Given the description of an element on the screen output the (x, y) to click on. 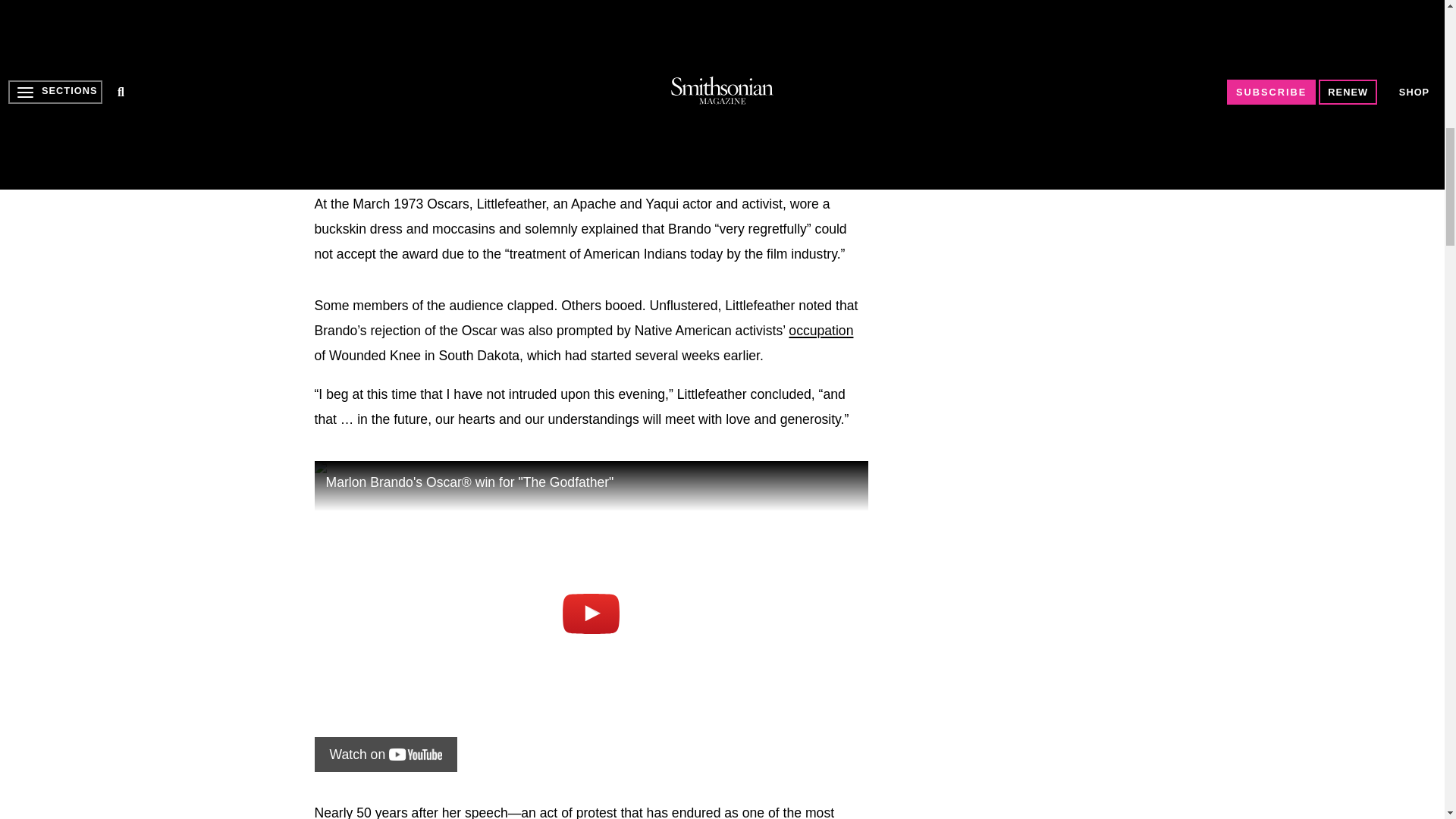
WhatsApp (450, 70)
Twitter (357, 70)
Facebook (325, 70)
Print (511, 70)
Reddit (418, 70)
Pocket (480, 70)
Email (542, 70)
LinkedIn (387, 70)
